Given the description of an element on the screen output the (x, y) to click on. 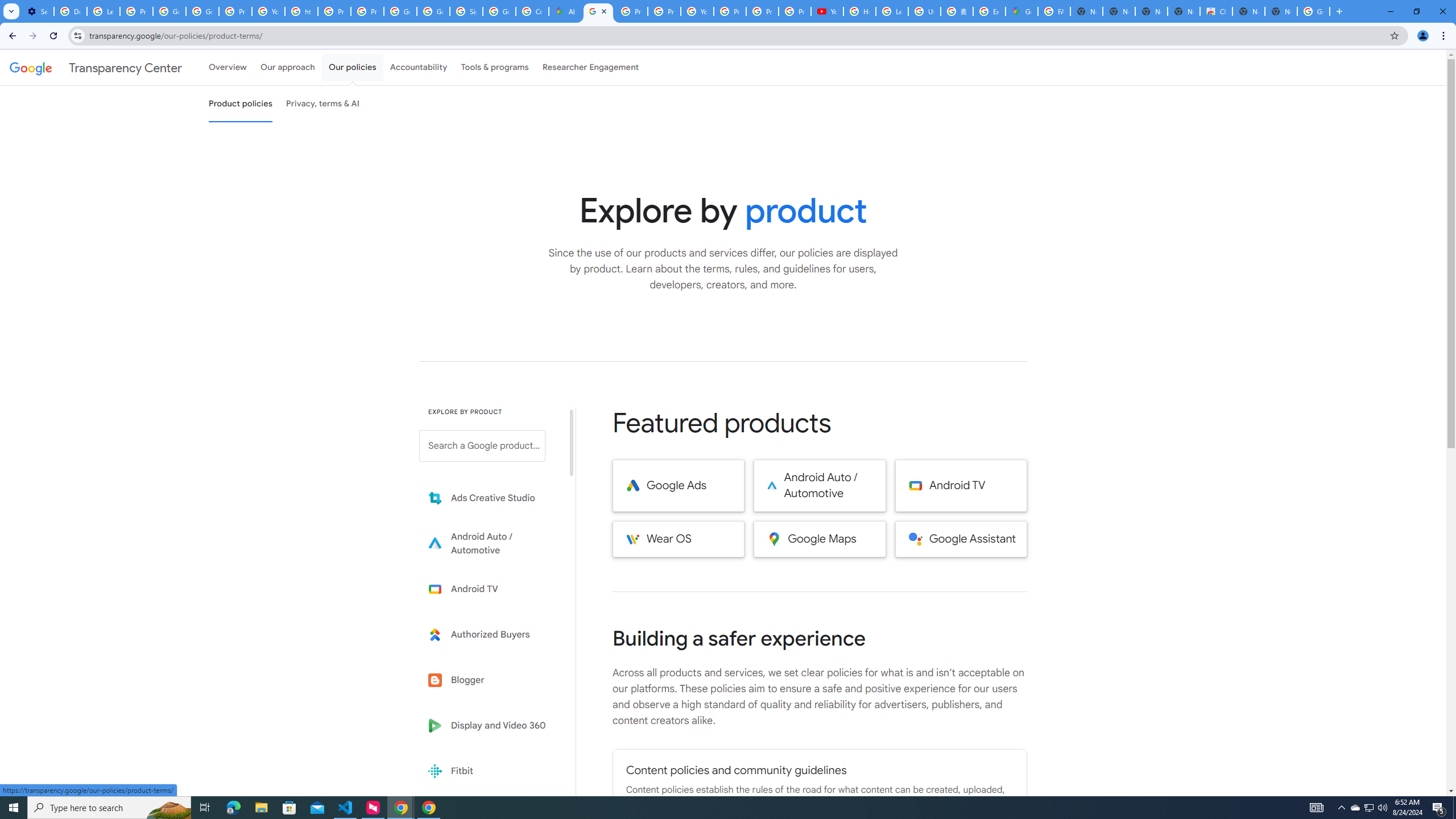
Google Maps (820, 538)
Explore new street-level details - Google Maps Help (989, 11)
Privacy Help Center - Policies Help (334, 11)
Google Maps (1021, 11)
Our policies (351, 67)
Sign in - Google Accounts (465, 11)
Wear OS (678, 538)
Create your Google Account (532, 11)
Fitbit (490, 770)
Android Auto / Automotive (820, 485)
Display and Video 360 (490, 725)
